Given the description of an element on the screen output the (x, y) to click on. 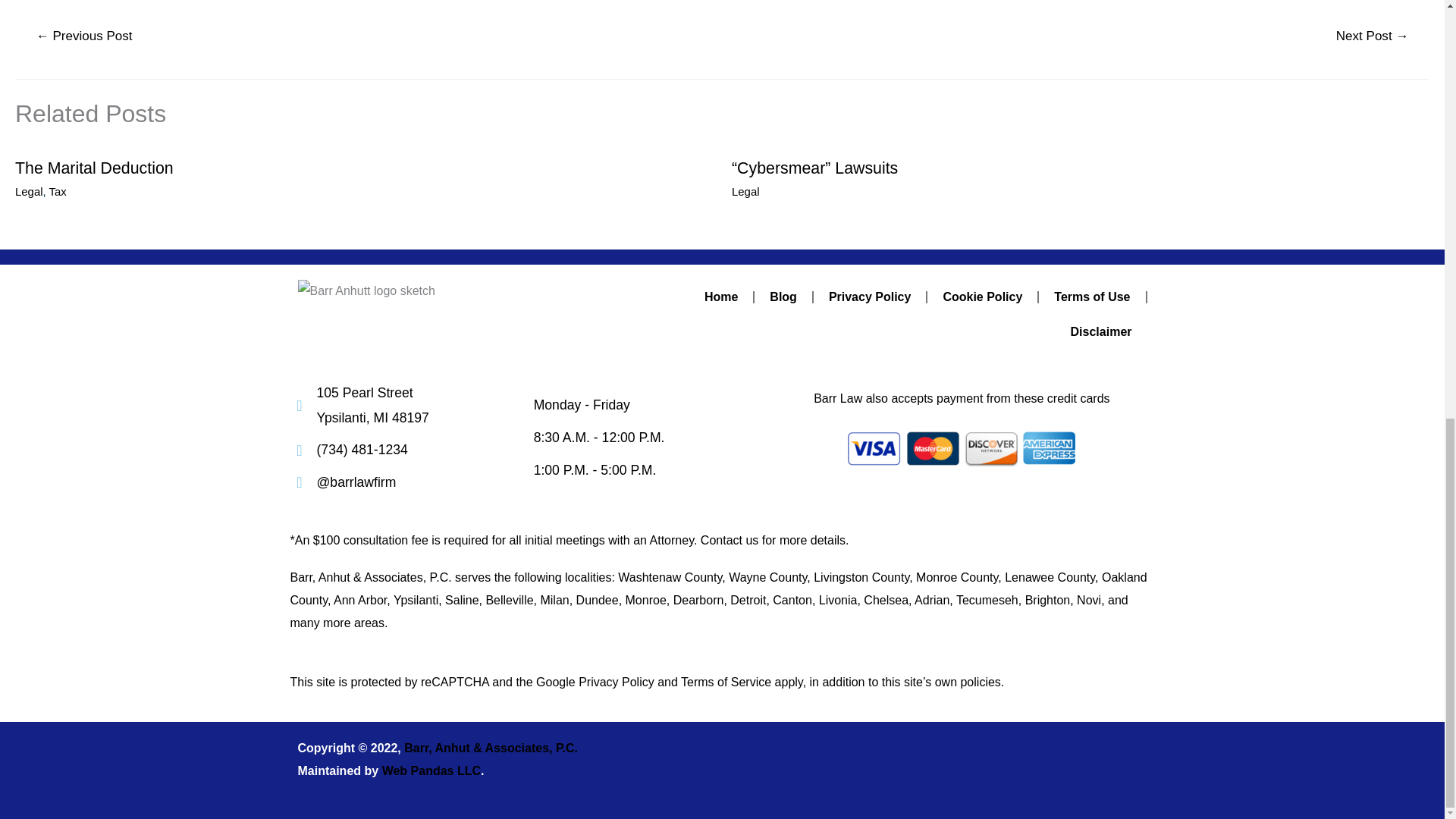
Web Pandas LLC (430, 770)
Terms of Use (1091, 297)
Legal (28, 191)
The Marital Deduction (93, 167)
Privacy Policy (869, 297)
Home (720, 297)
Cookie Policy (981, 297)
Blog (783, 297)
Tax (57, 191)
Legal (746, 191)
Terms of Service (726, 681)
Disclaimer (1101, 331)
Privacy Policy (615, 681)
